Given the description of an element on the screen output the (x, y) to click on. 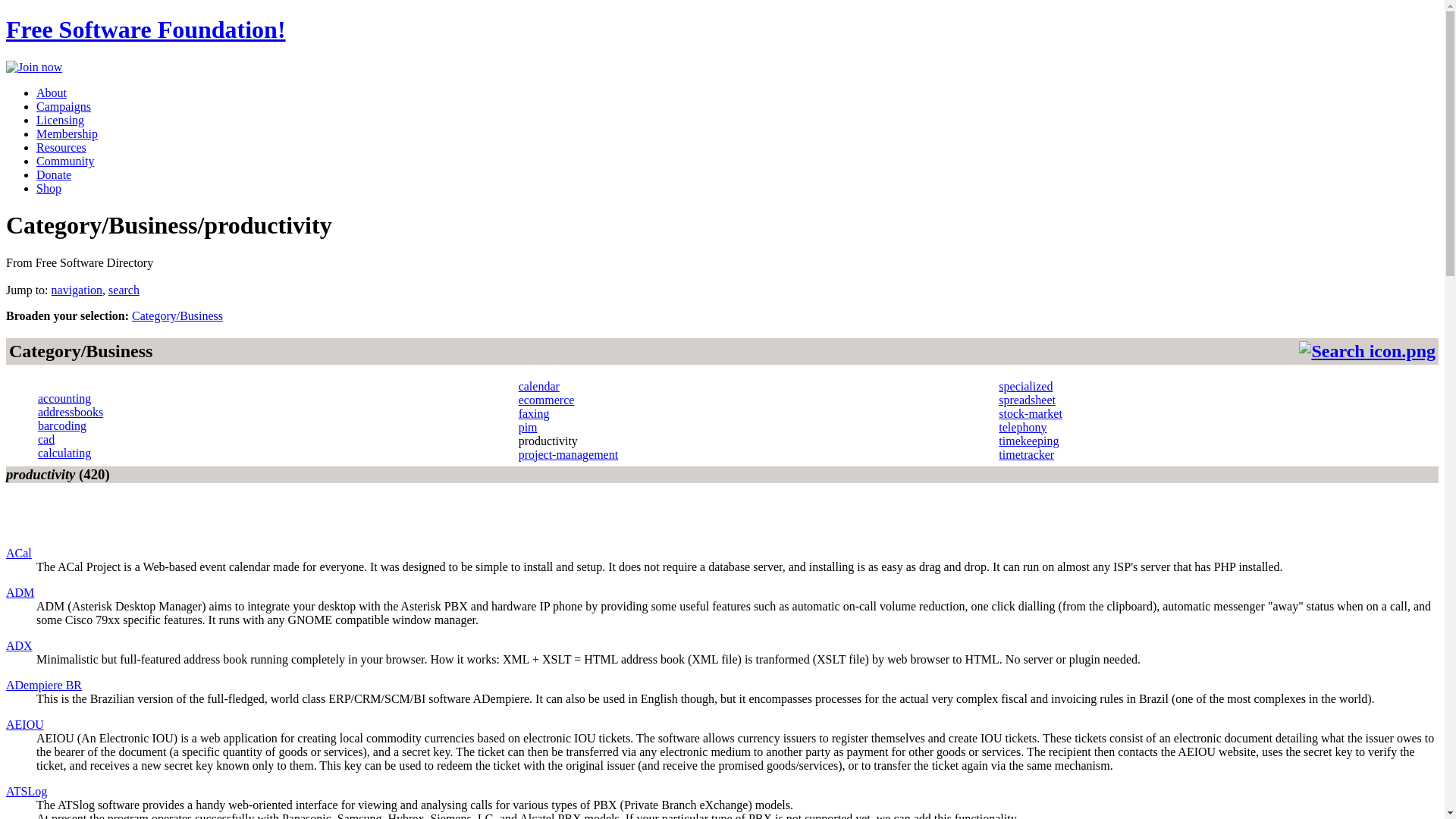
timekeeping (1028, 440)
Campaigns (63, 106)
cad (46, 439)
Membership (66, 133)
stock-market (1030, 413)
About (51, 92)
ADempiere BR (43, 684)
ATSLog (25, 790)
Community (65, 160)
About (51, 92)
